Given the description of an element on the screen output the (x, y) to click on. 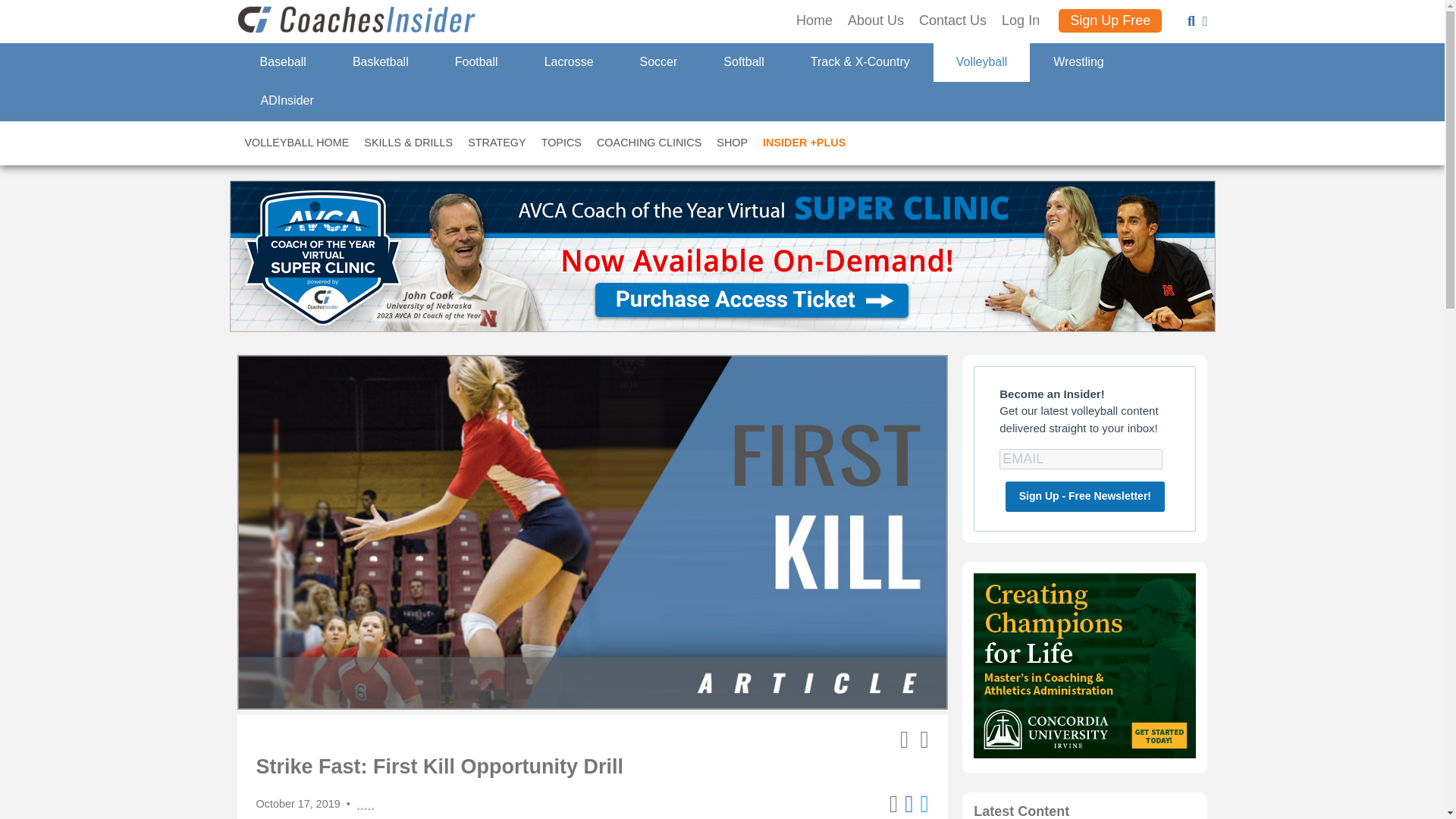
Baseball (282, 62)
Wrestling (1077, 62)
STRATEGY (497, 142)
VOLLEYBALL HOME (295, 142)
Volleyball (981, 62)
Log In (1020, 21)
Home (814, 21)
Softball (743, 62)
ADInsider (285, 100)
Contact Us (952, 21)
